Given the description of an element on the screen output the (x, y) to click on. 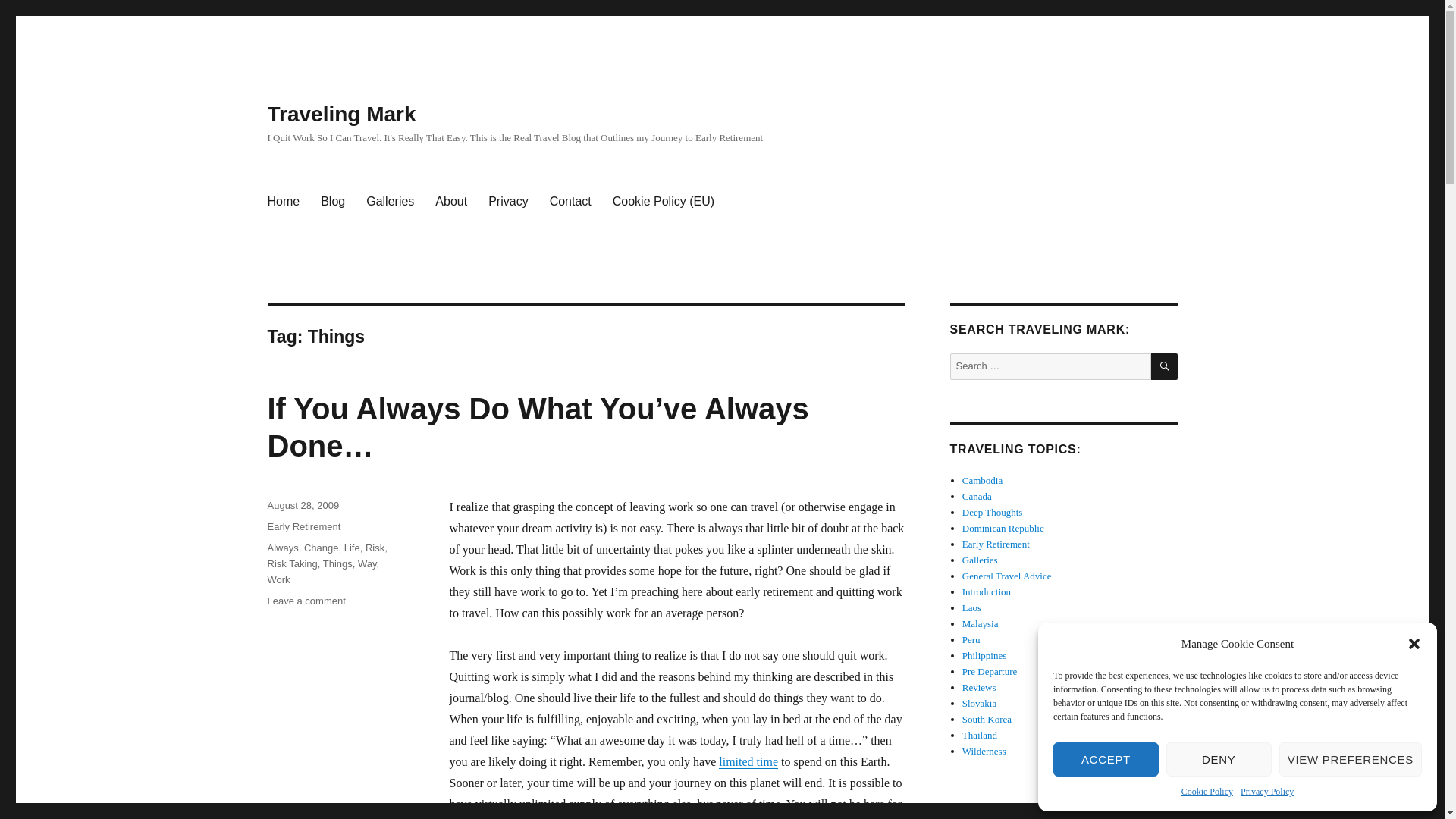
Cookie Policy (1206, 791)
About (451, 201)
Home (283, 201)
Risk (374, 547)
limited time (748, 761)
Travel Blog (332, 201)
Way (367, 563)
Traveling Mark (340, 114)
August 28, 2009 (302, 505)
Privacy Policy (1267, 791)
